Given the description of an element on the screen output the (x, y) to click on. 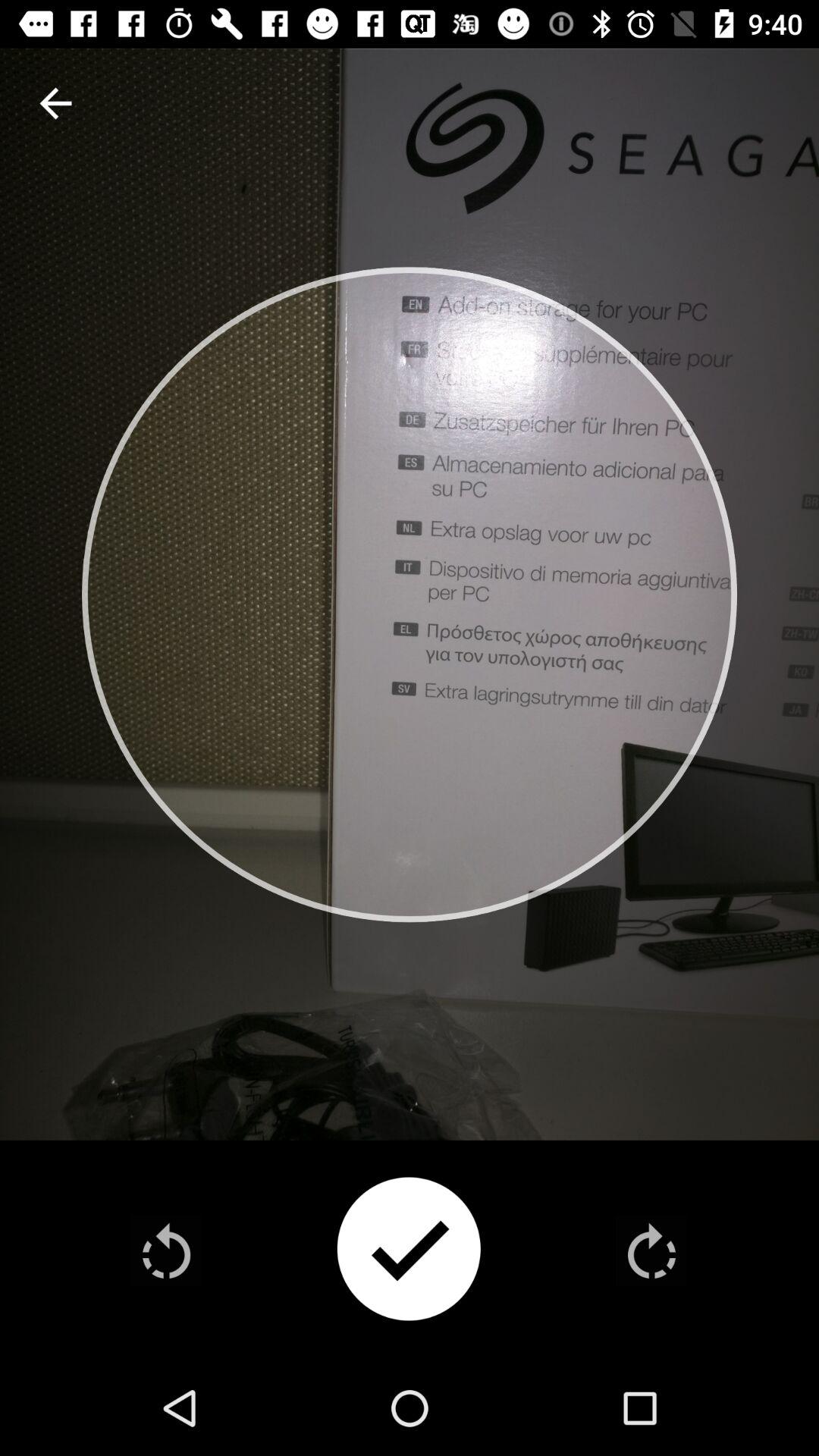
go ahead (651, 1250)
